Given the description of an element on the screen output the (x, y) to click on. 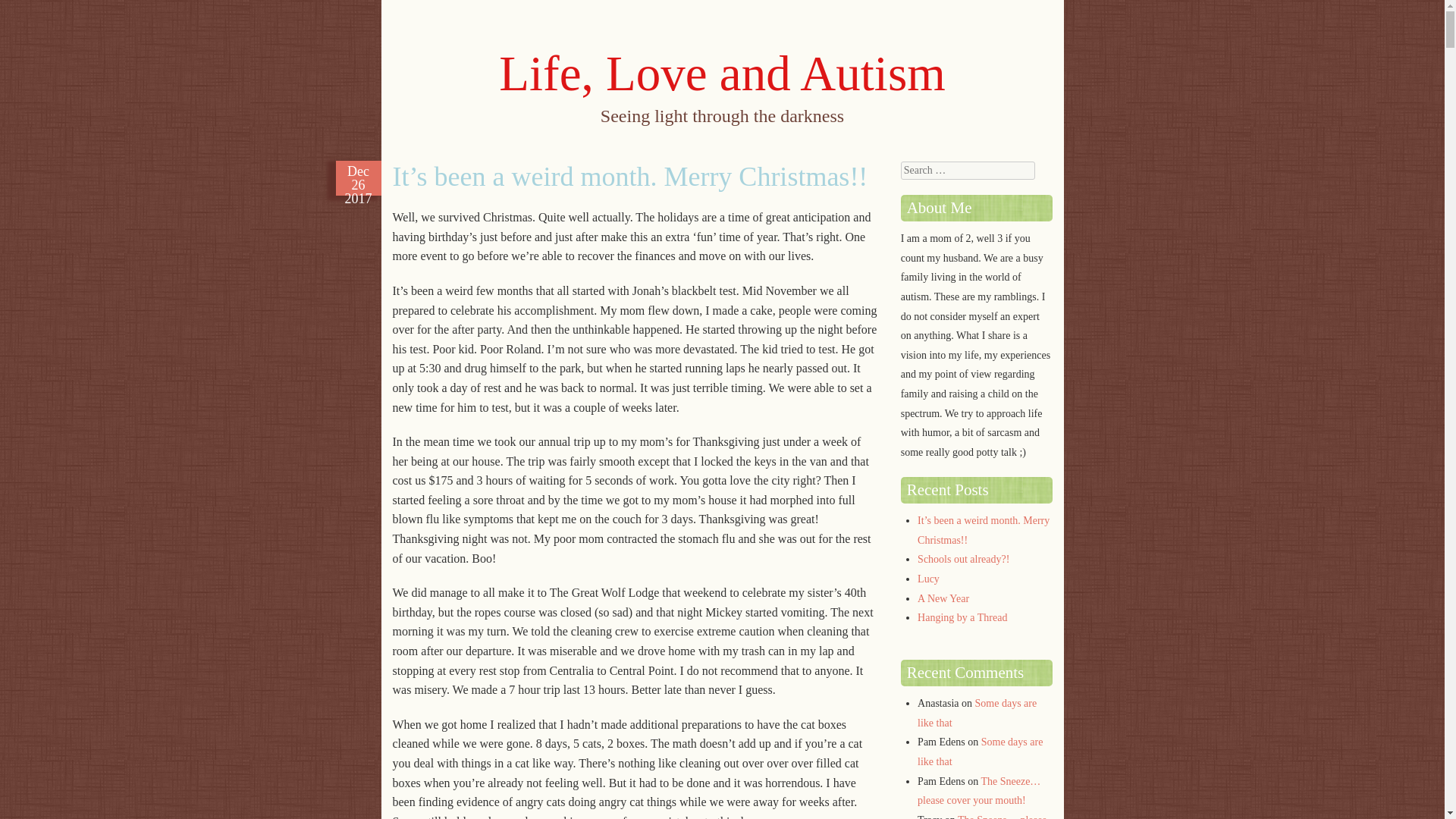
Dec 26 2017 (358, 177)
Skip to content (433, 155)
Life, Love and Autism (721, 72)
Skip to content (433, 155)
Life, Love and Autism (721, 72)
